Given the description of an element on the screen output the (x, y) to click on. 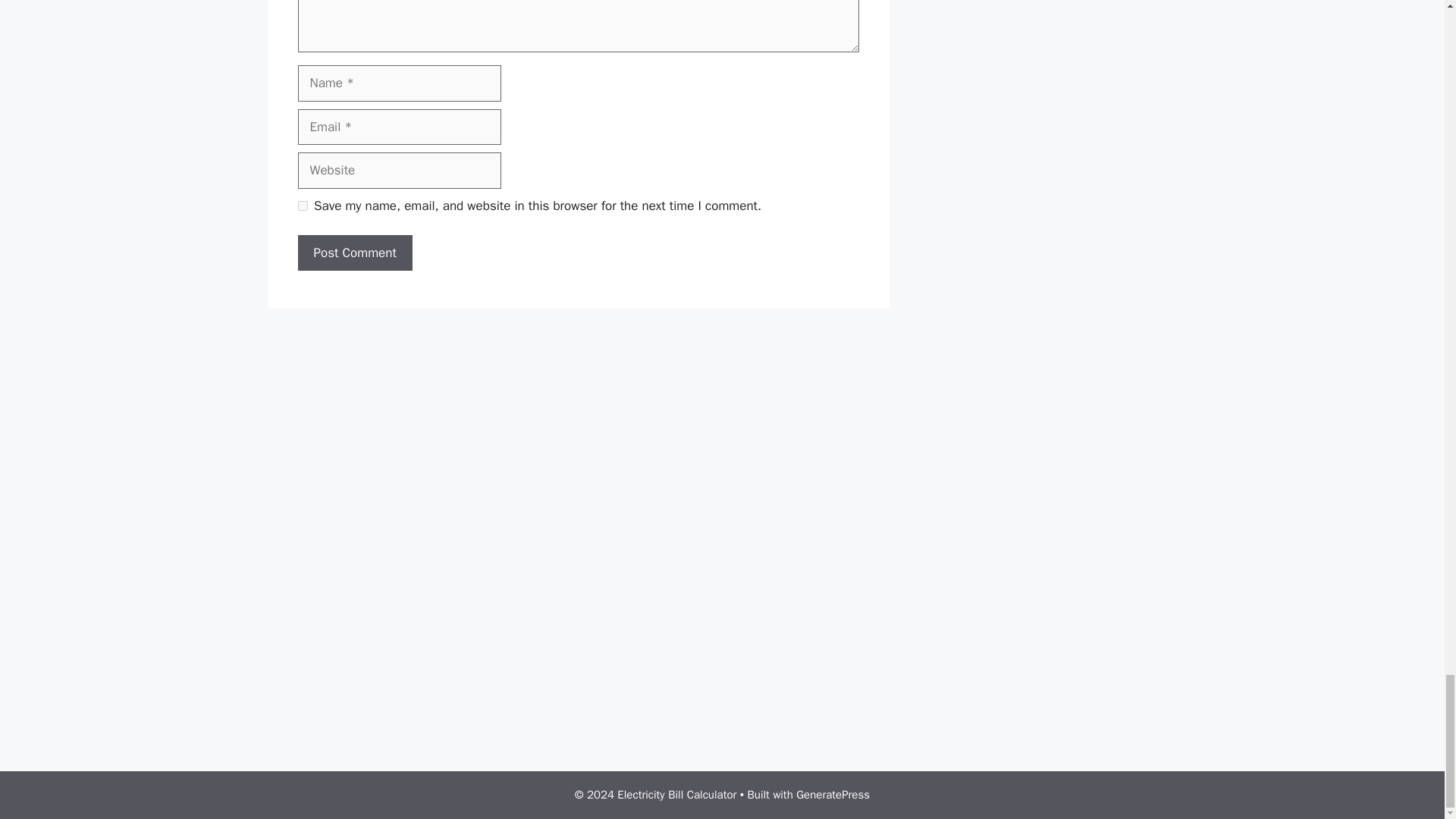
GeneratePress (832, 794)
Post Comment (354, 253)
Post Comment (354, 253)
yes (302, 205)
